Given the description of an element on the screen output the (x, y) to click on. 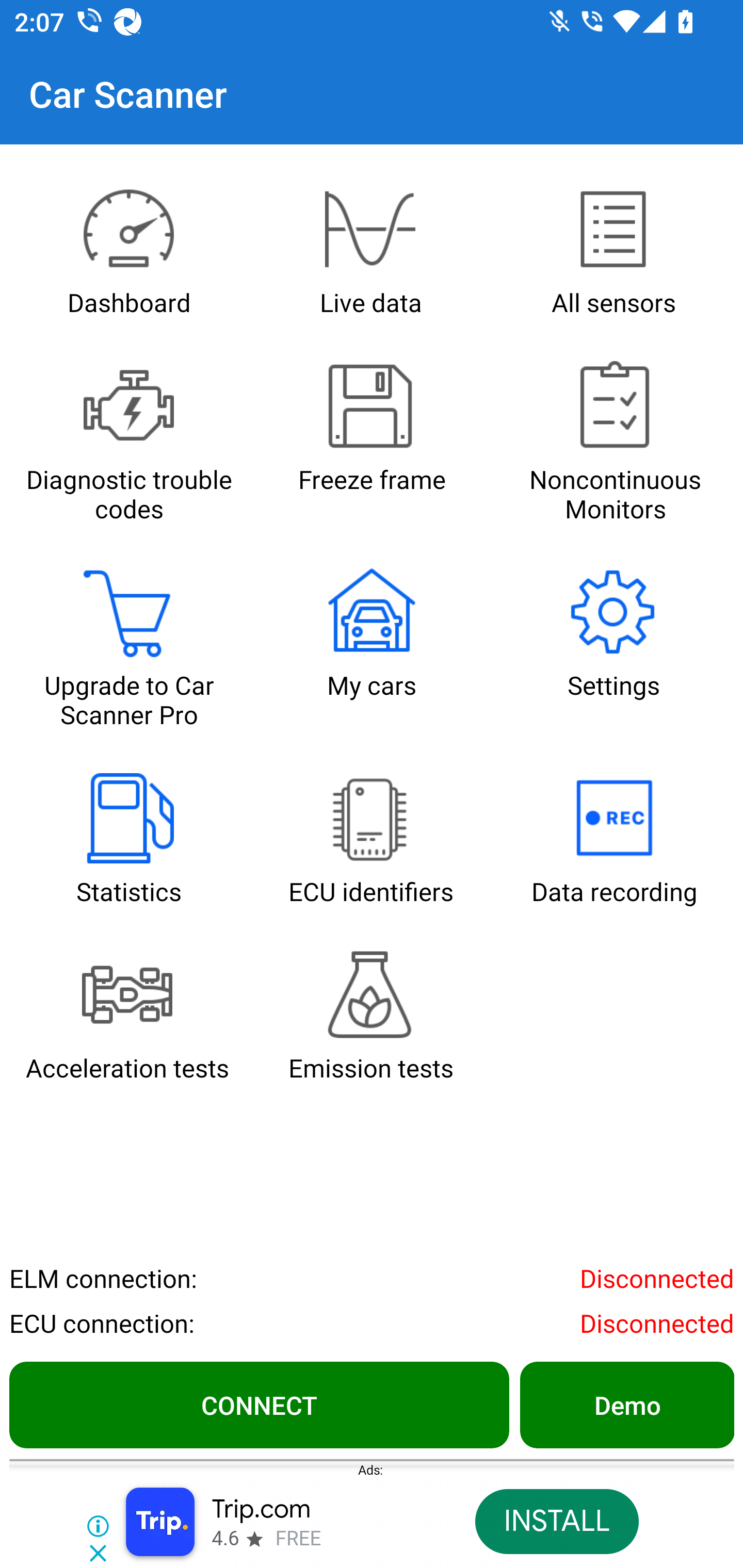
CONNECT (258, 1404)
Demo (627, 1404)
